Given the description of an element on the screen output the (x, y) to click on. 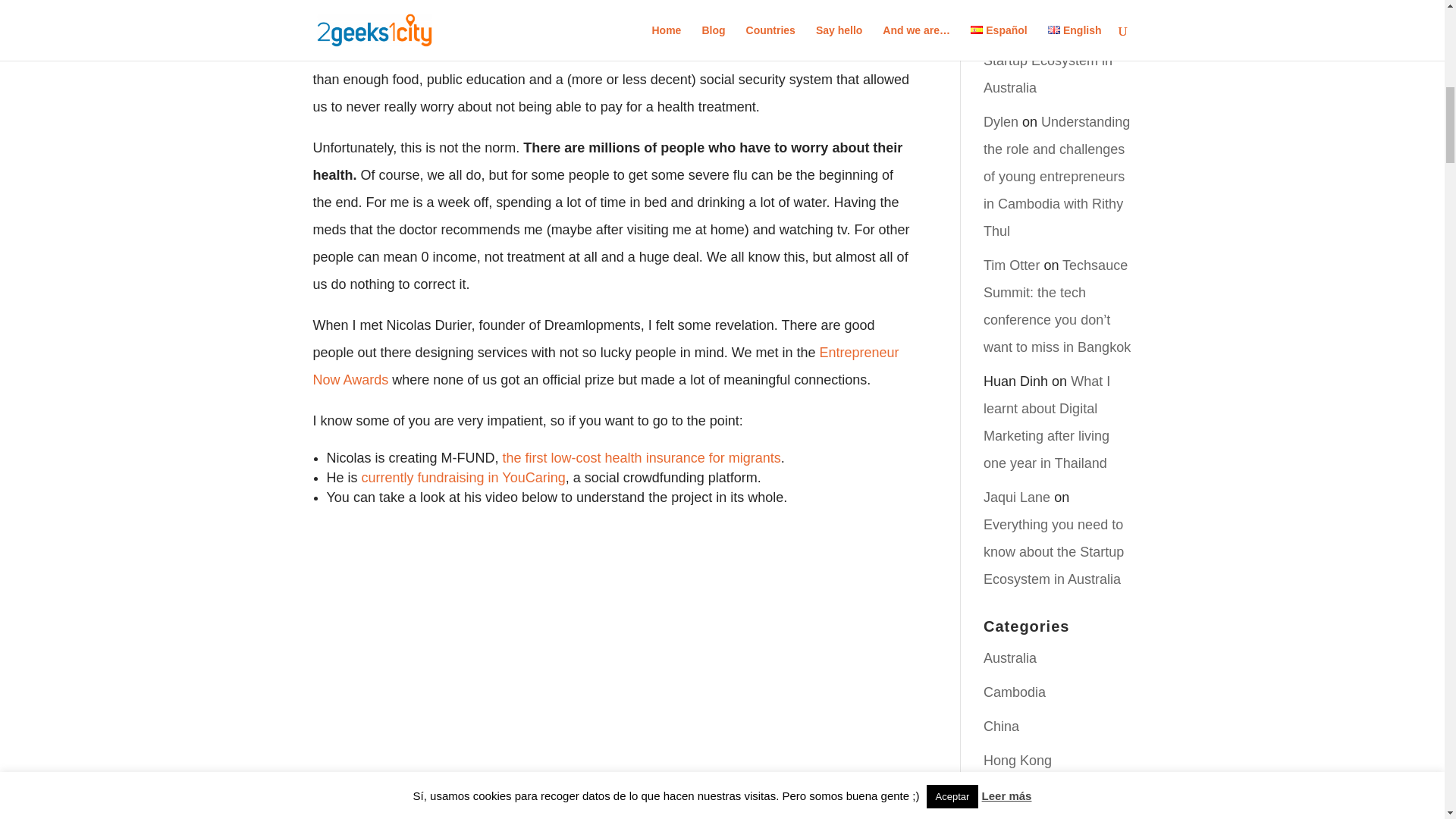
currently fundraising in YouCaring (463, 477)
Entrepreneur Now Awards (605, 365)
the first low-cost health insurance for migrants (641, 458)
